Given the description of an element on the screen output the (x, y) to click on. 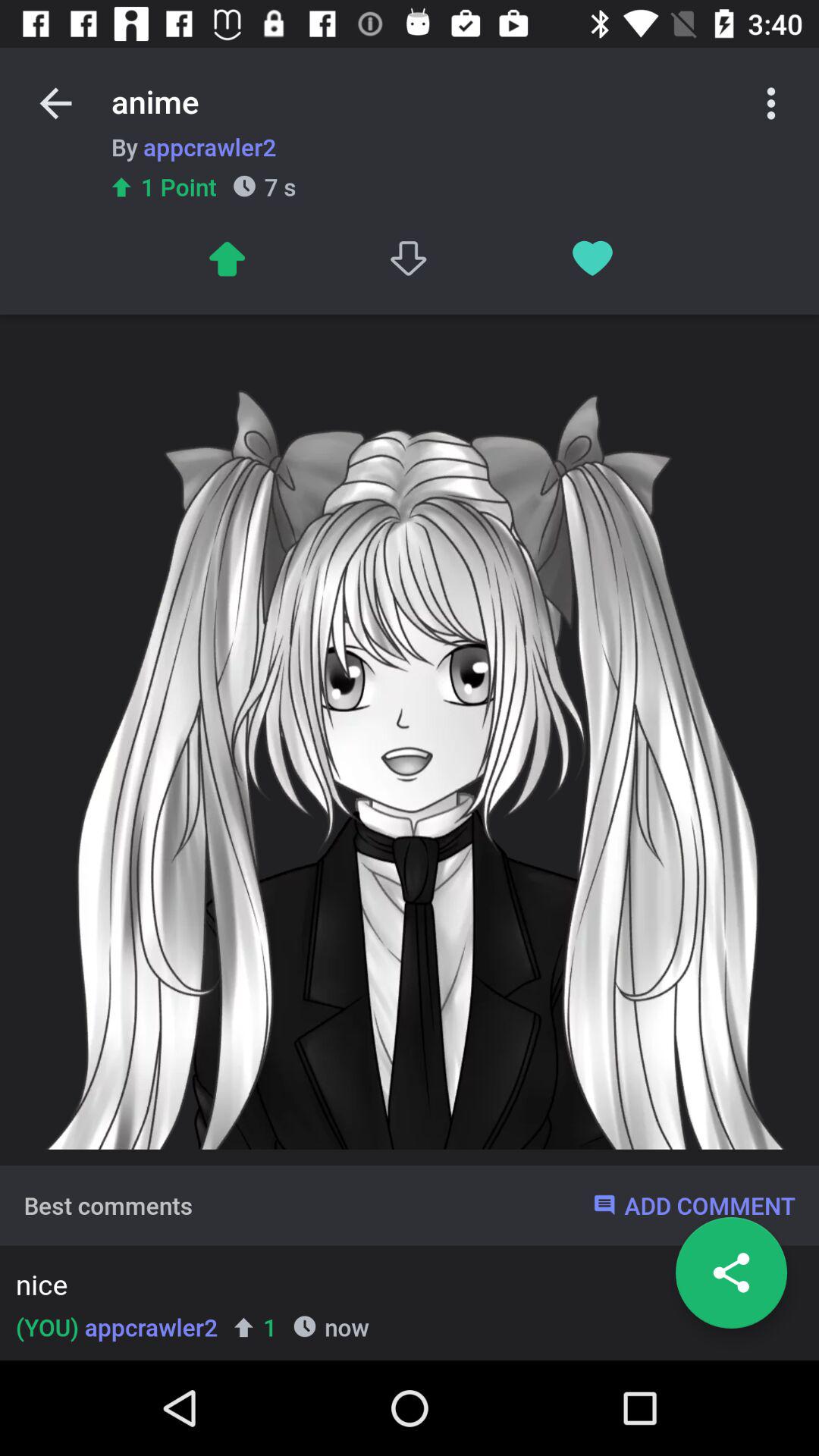
launch the by appcrawler2 item (193, 146)
